Given the description of an element on the screen output the (x, y) to click on. 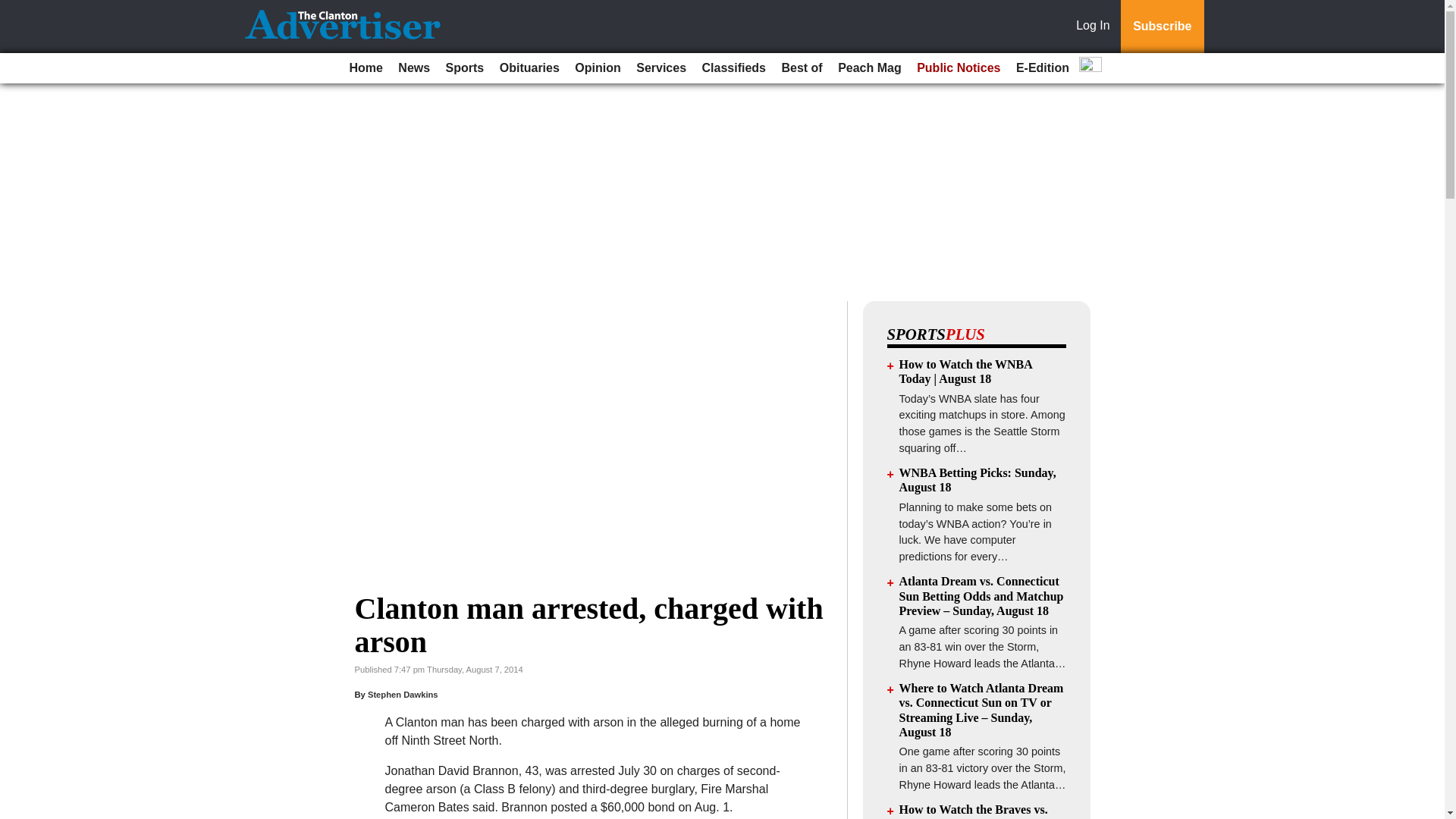
Classifieds (733, 68)
Public Notices (958, 68)
Subscribe (1162, 26)
E-Edition (1042, 68)
Sports (464, 68)
Best of (801, 68)
Log In (1095, 26)
Go (13, 9)
WNBA Betting Picks: Sunday, August 18 (978, 479)
News (413, 68)
